Given the description of an element on the screen output the (x, y) to click on. 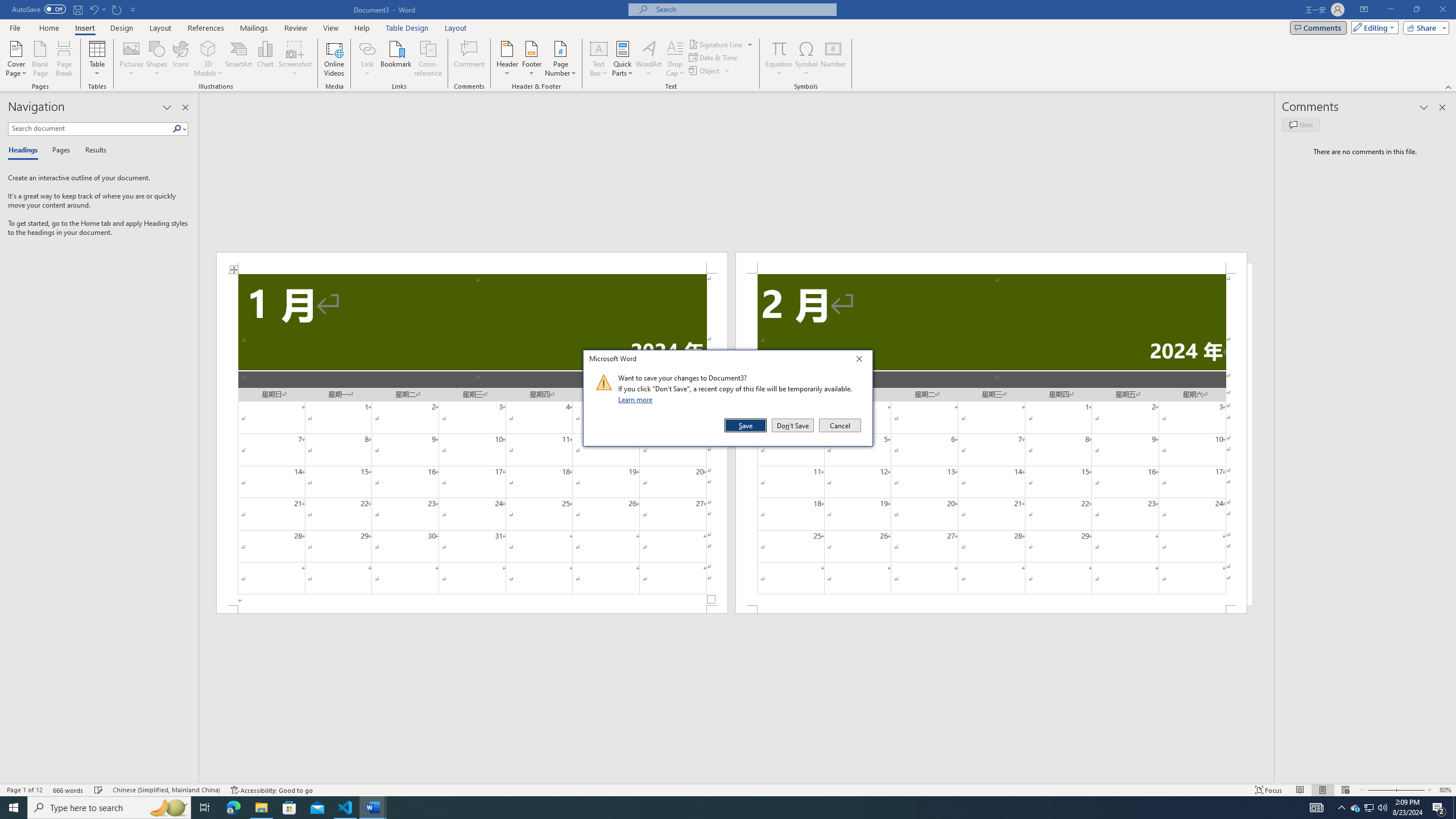
Blank Page (40, 58)
Cancel (839, 425)
File Explorer - 1 running window (261, 807)
Undo Increase Indent (92, 9)
Signature Line (716, 44)
Date & Time... (714, 56)
Don't Save (792, 425)
Pictures (131, 58)
